Given the description of an element on the screen output the (x, y) to click on. 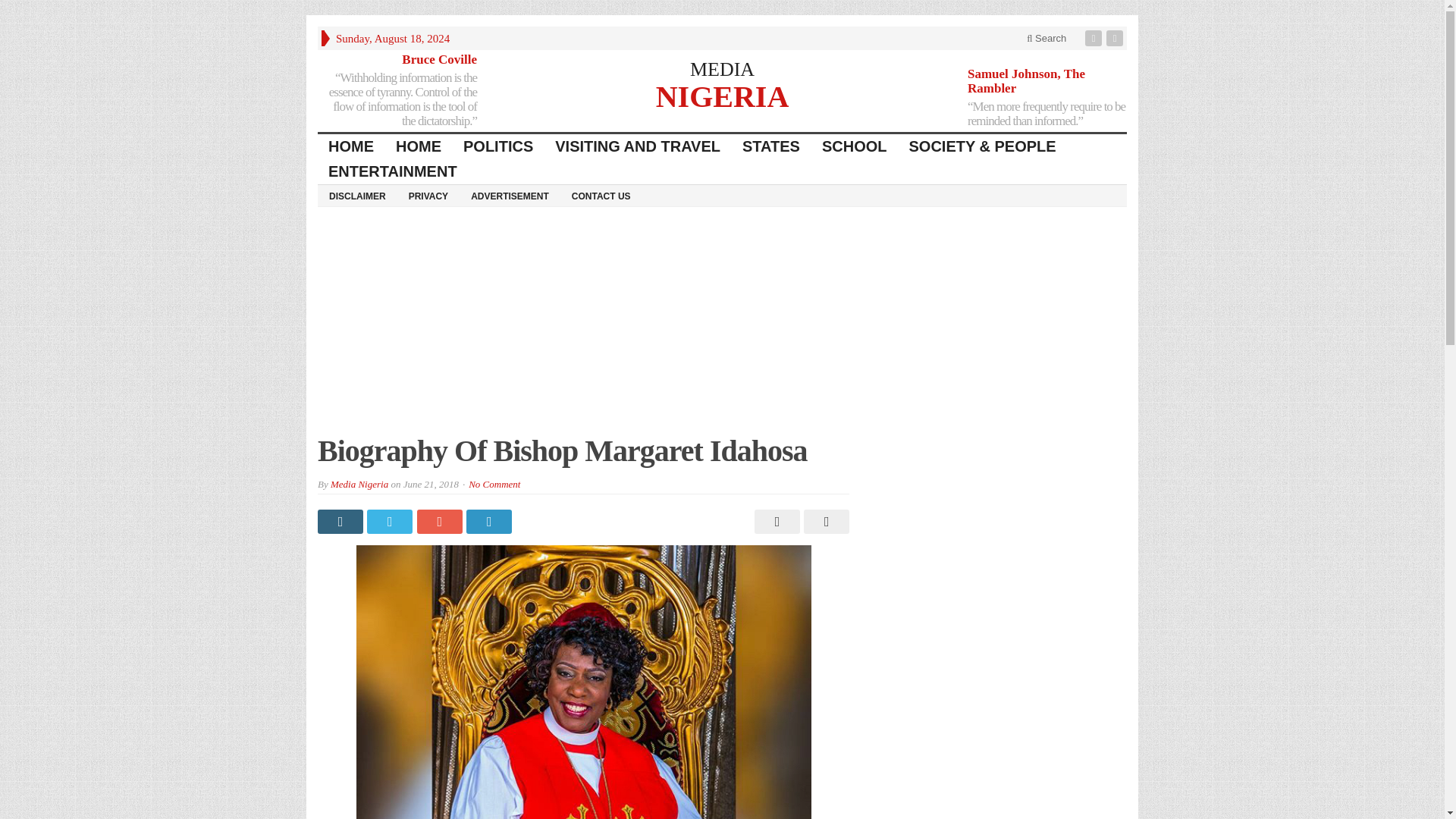
DISCLAIMER (357, 195)
HOME (418, 146)
VISITING AND TRAVEL (638, 146)
NIGERIA (722, 94)
HOME (351, 146)
Facebook (1094, 37)
STATES (771, 146)
SCHOOL (854, 146)
ENTERTAINMENT (392, 171)
Share on Twitter (391, 521)
